Given the description of an element on the screen output the (x, y) to click on. 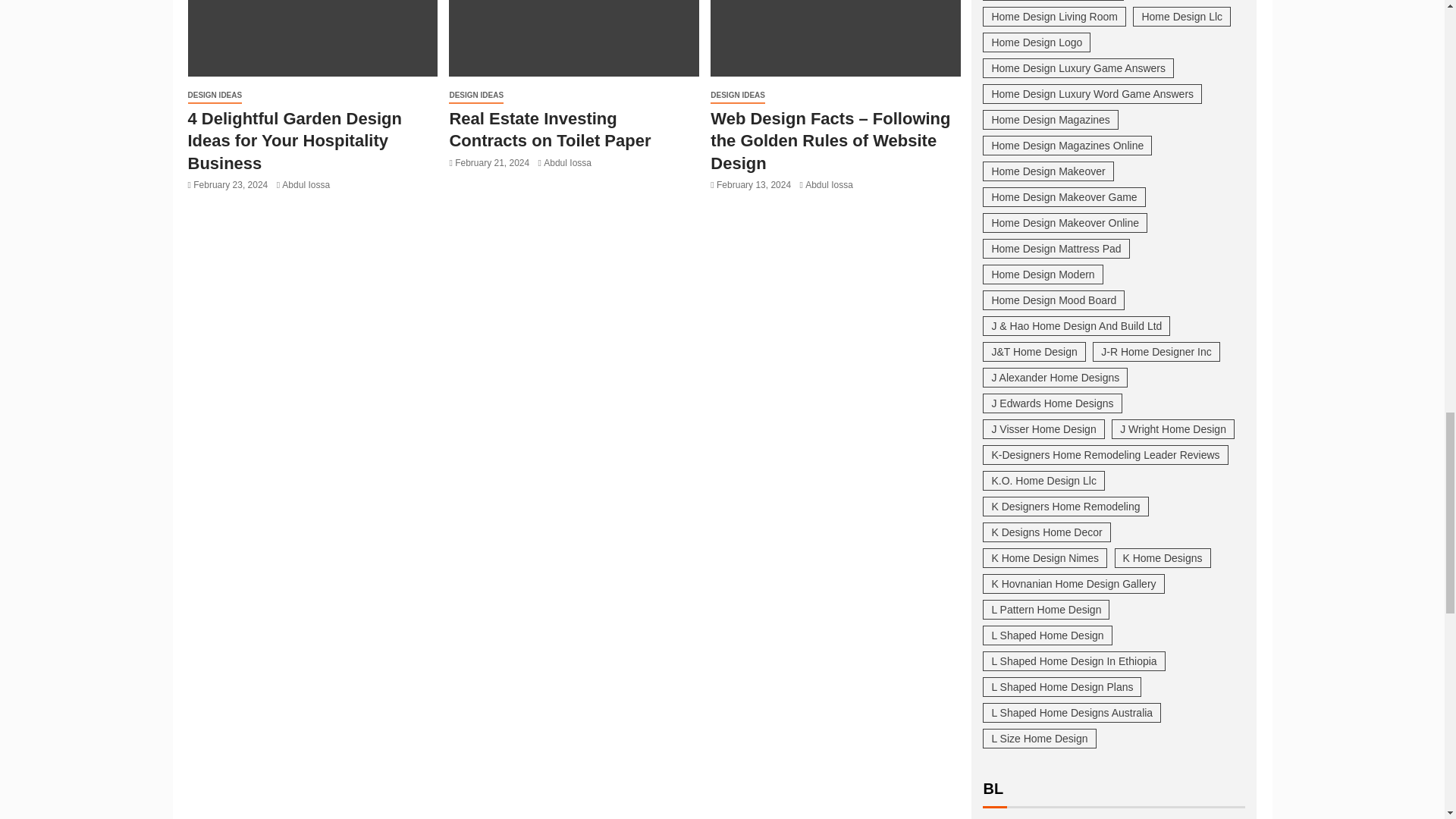
DESIGN IDEAS (475, 95)
Real Estate Investing Contracts on Toilet Paper (573, 38)
Abdul Iossa (306, 184)
DESIGN IDEAS (215, 95)
